Given the description of an element on the screen output the (x, y) to click on. 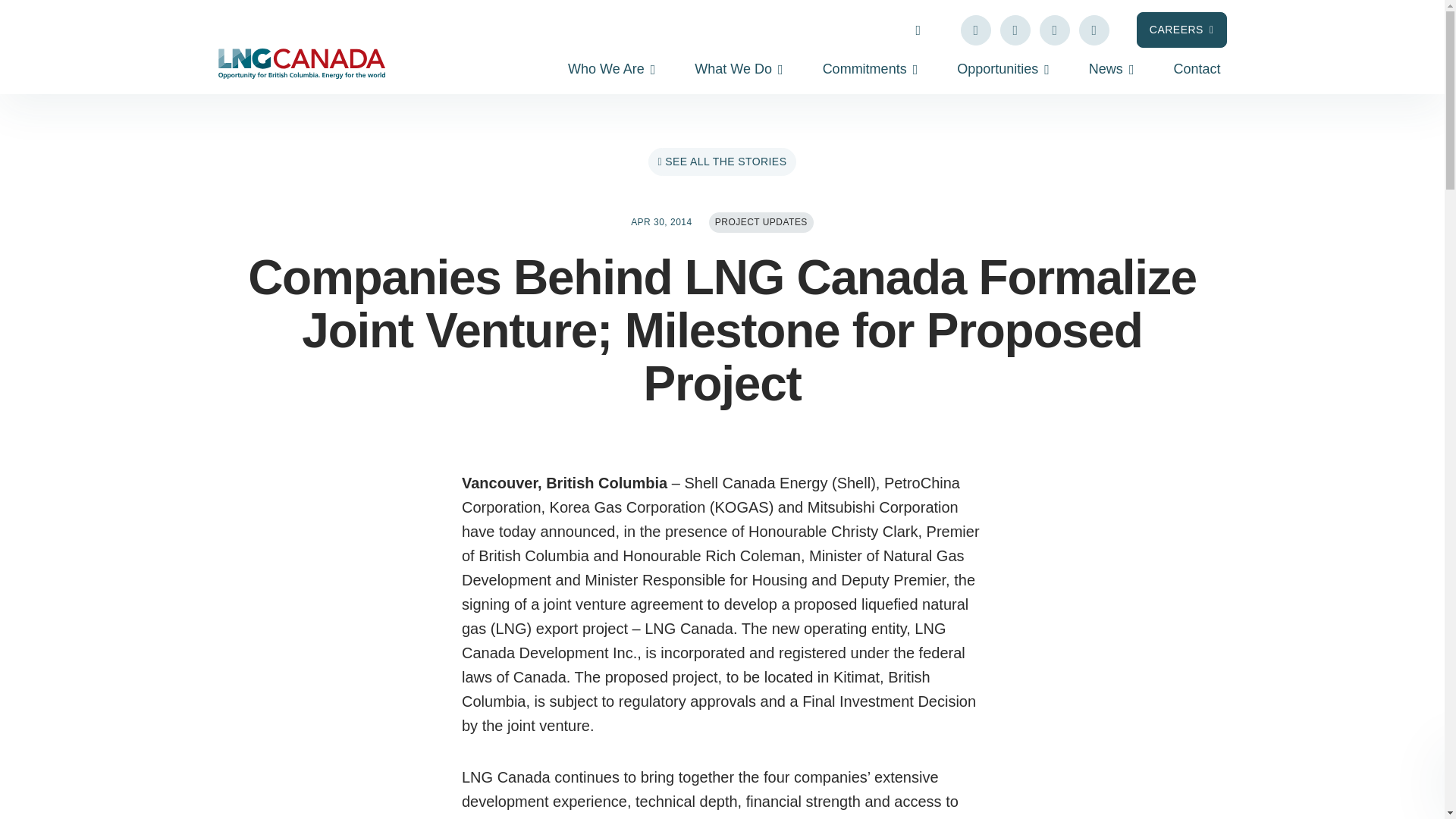
What We Do (738, 70)
Commitments (870, 70)
Who We Are (611, 70)
News (1111, 70)
Contact (1196, 70)
Search (893, 29)
CAREERS (1182, 29)
Opportunities (1002, 70)
